Given the description of an element on the screen output the (x, y) to click on. 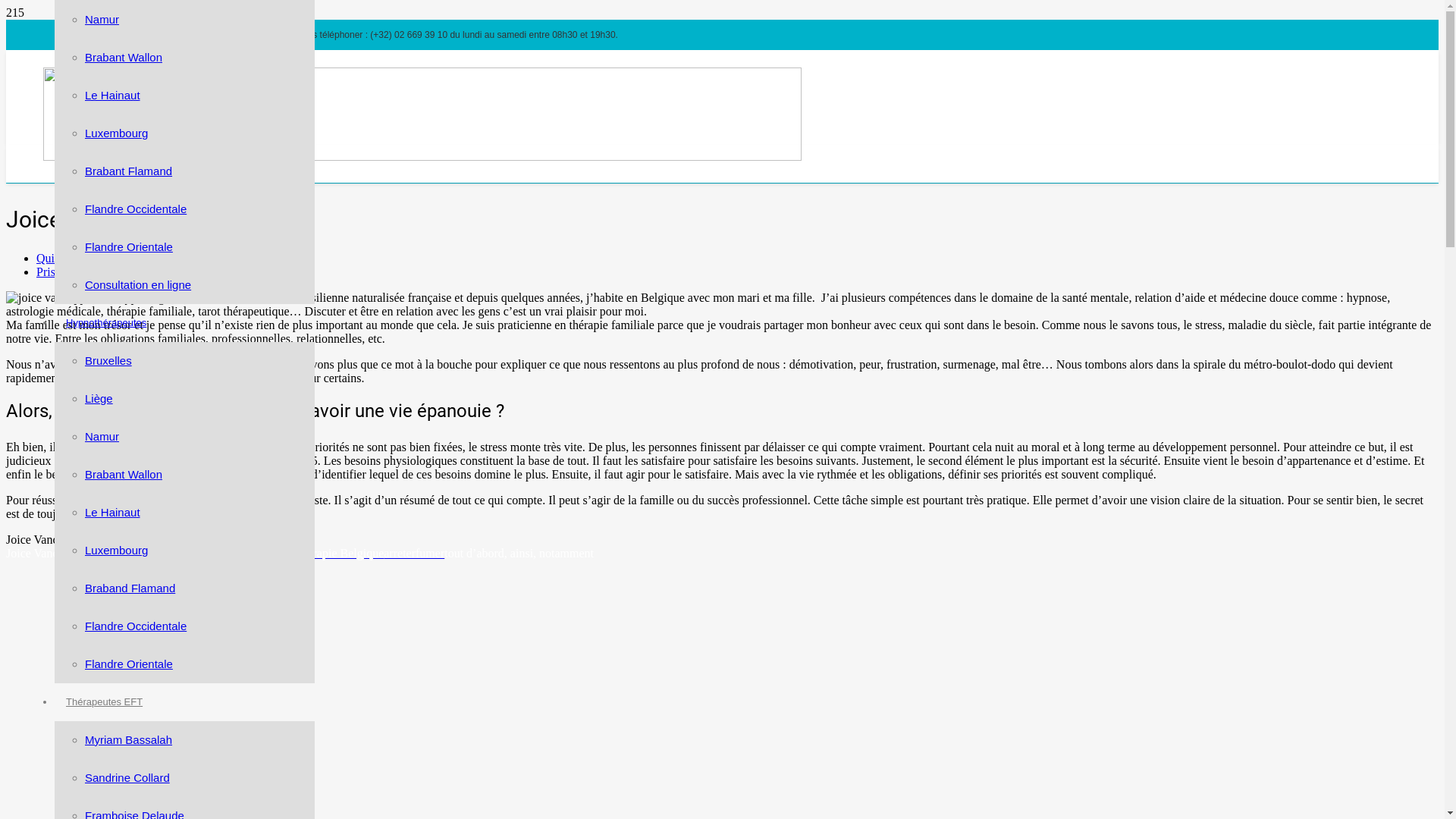
Luxembourg Element type: text (115, 132)
Myriam Bassalah Element type: text (128, 739)
Luxembourg Element type: text (115, 549)
Consultation en ligne Element type: text (137, 284)
Prise de Rendez-vous Element type: text (88, 271)
Braband Flamand Element type: text (129, 587)
Bruxelles Element type: text (107, 360)
Namur Element type: text (101, 435)
Brabant Wallon Element type: text (123, 56)
Flandre Occidentale Element type: text (135, 208)
Le Hainaut Element type: text (112, 94)
Sandrine Collard Element type: text (126, 777)
Namur Element type: text (101, 18)
Le Hainaut Element type: text (112, 511)
arreterfumer Element type: text (413, 552)
Brabant Flamand Element type: text (128, 170)
Flandre Occidentale Element type: text (135, 625)
Flandre Orientale Element type: text (128, 663)
Flandre Orientale Element type: text (128, 246)
Brabant Wallon Element type: text (123, 473)
Qui suis-je Element type: text (62, 257)
